Given the description of an element on the screen output the (x, y) to click on. 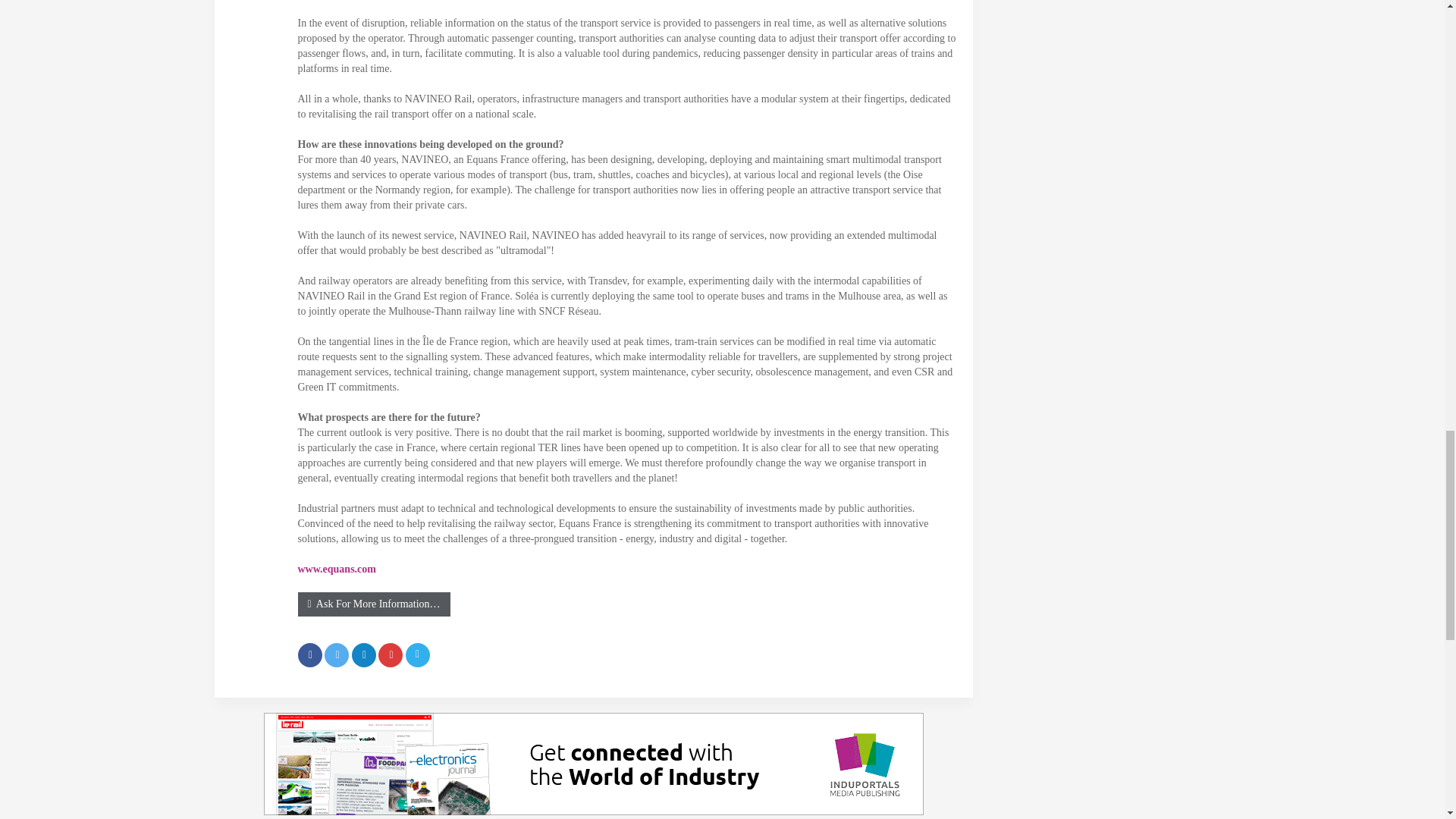
Share on Pinterest (390, 654)
Share on Twitter (336, 654)
www.equans.com (336, 568)
Share on LinkedIn (363, 654)
Share on Facebook (309, 654)
